Given the description of an element on the screen output the (x, y) to click on. 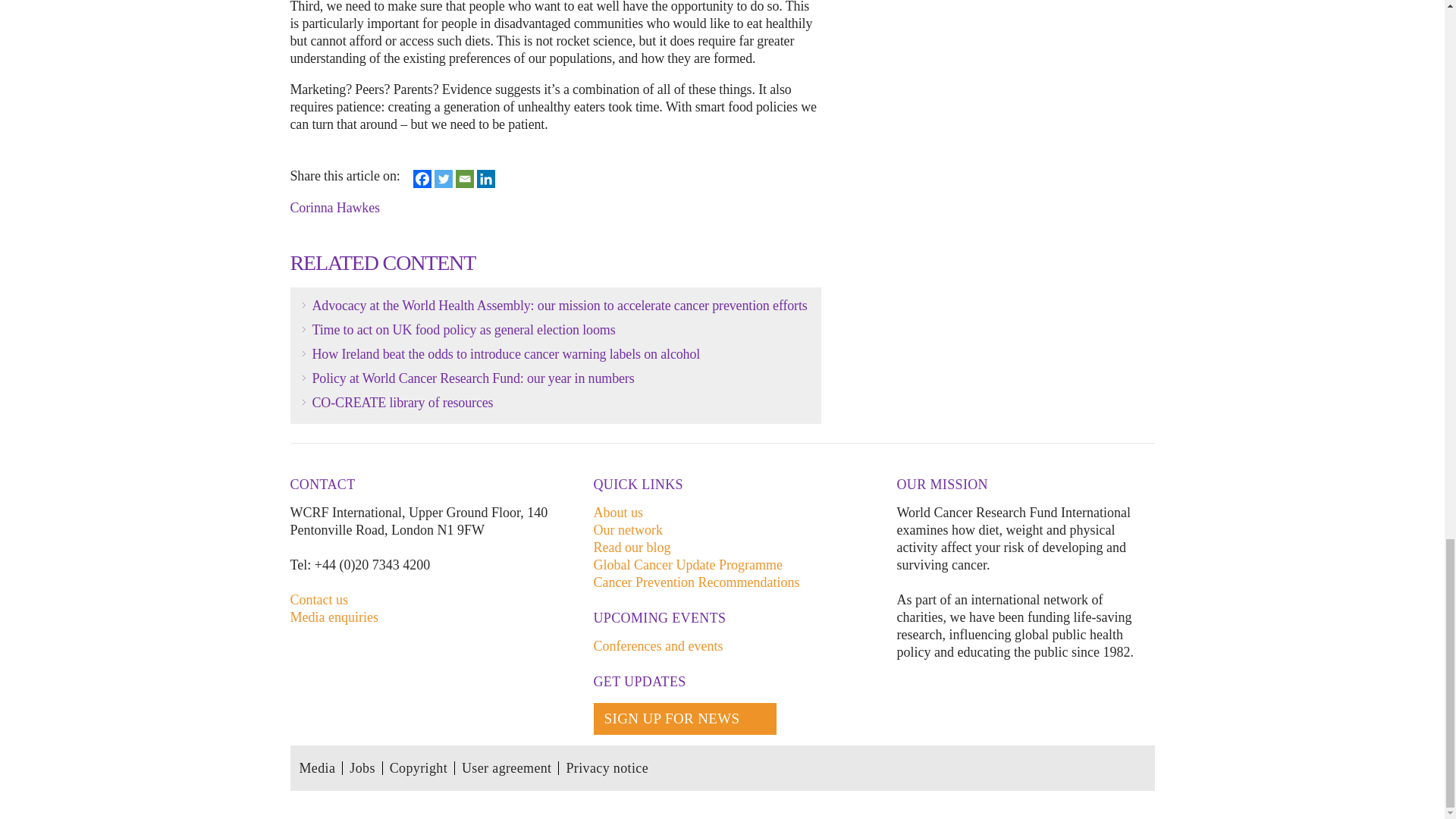
Linkedin (486, 178)
Posts by Corinna Hawkes (335, 207)
Email (464, 178)
Twitter (442, 178)
Facebook (421, 178)
